Given the description of an element on the screen output the (x, y) to click on. 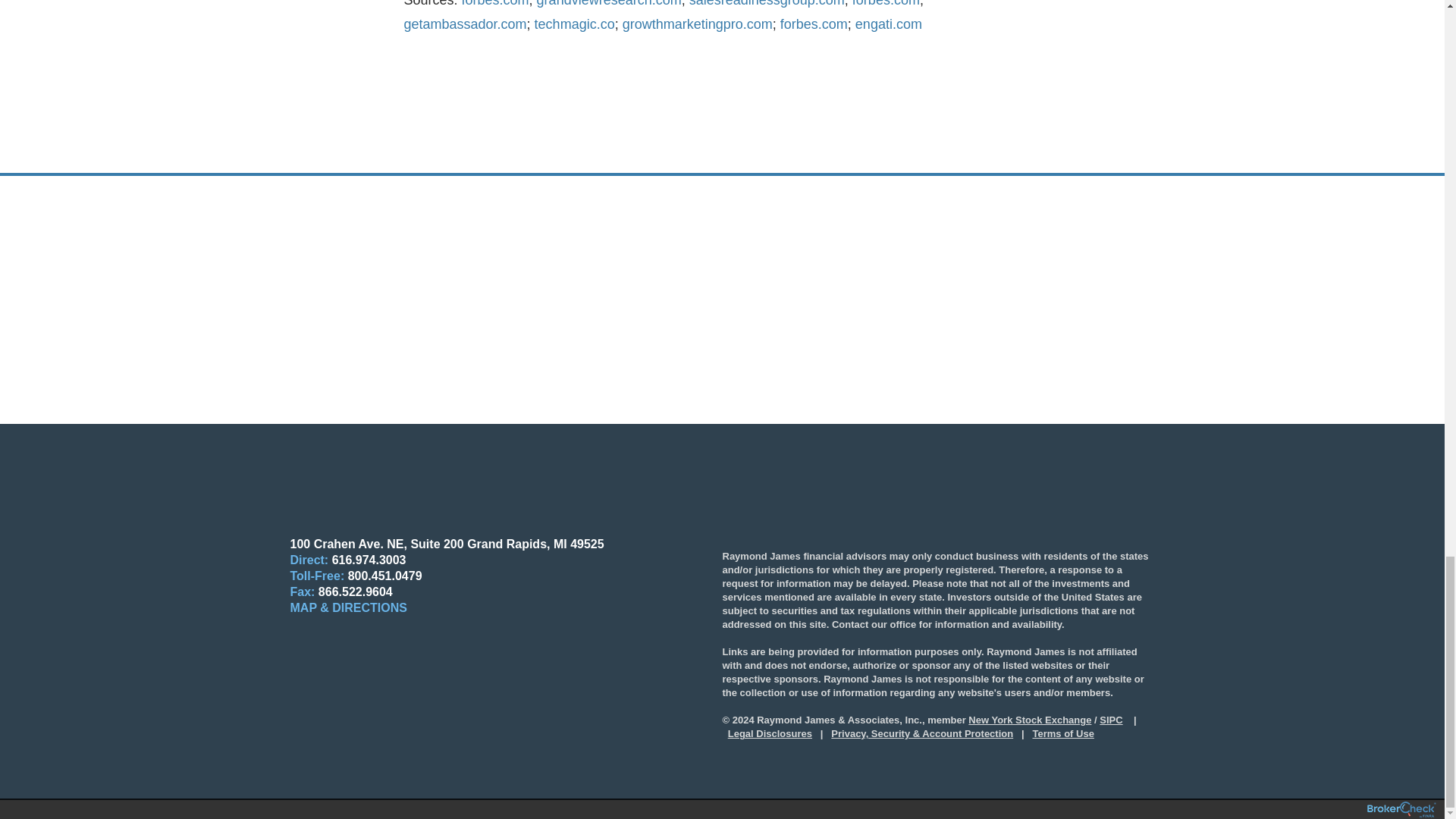
Privacy, Security and Account Protection (922, 733)
New York Stock Exchange (1029, 719)
SIPC (1110, 719)
Legal Disclosures (770, 733)
Terms of Use (1063, 733)
